Given the description of an element on the screen output the (x, y) to click on. 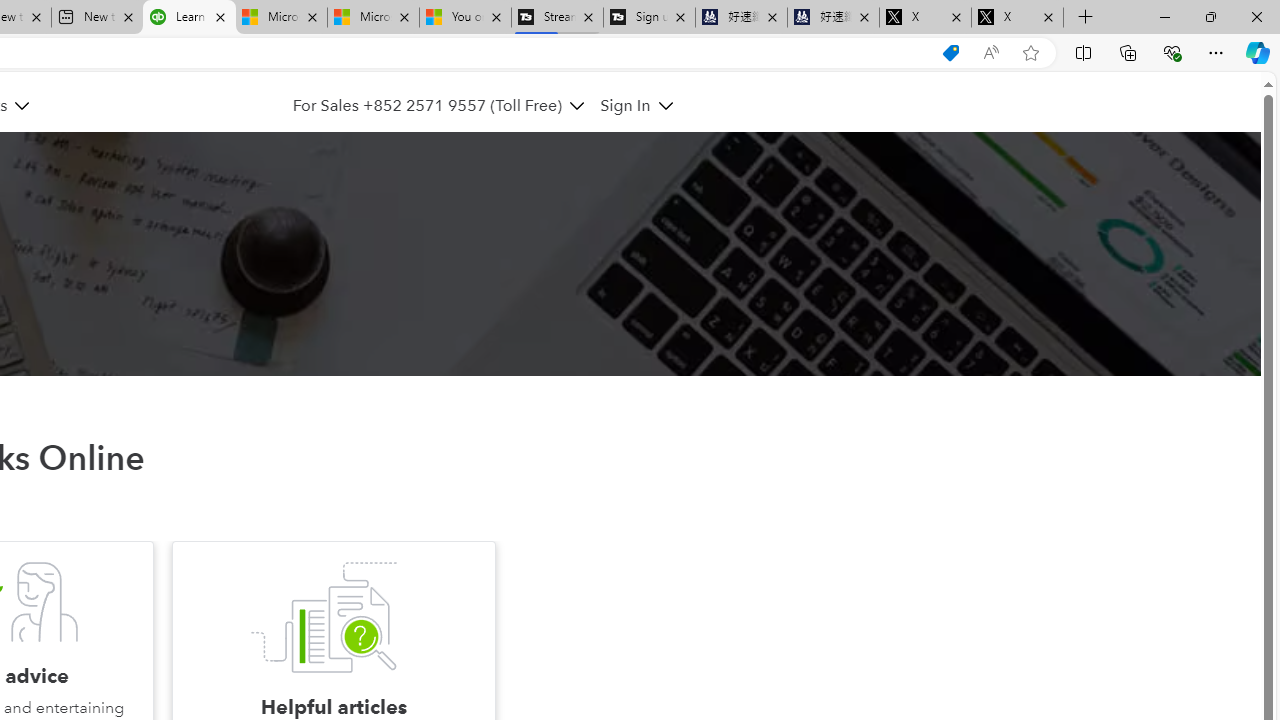
Class: MenuItem_dDown__f585abf6 MenuItem_white__f585abf6 (665, 106)
Shopping in Microsoft Edge (950, 53)
Sign In (625, 105)
For Sales +852 2571 9557 (Toll Free) (437, 105)
Helpful articles (323, 617)
